Given the description of an element on the screen output the (x, y) to click on. 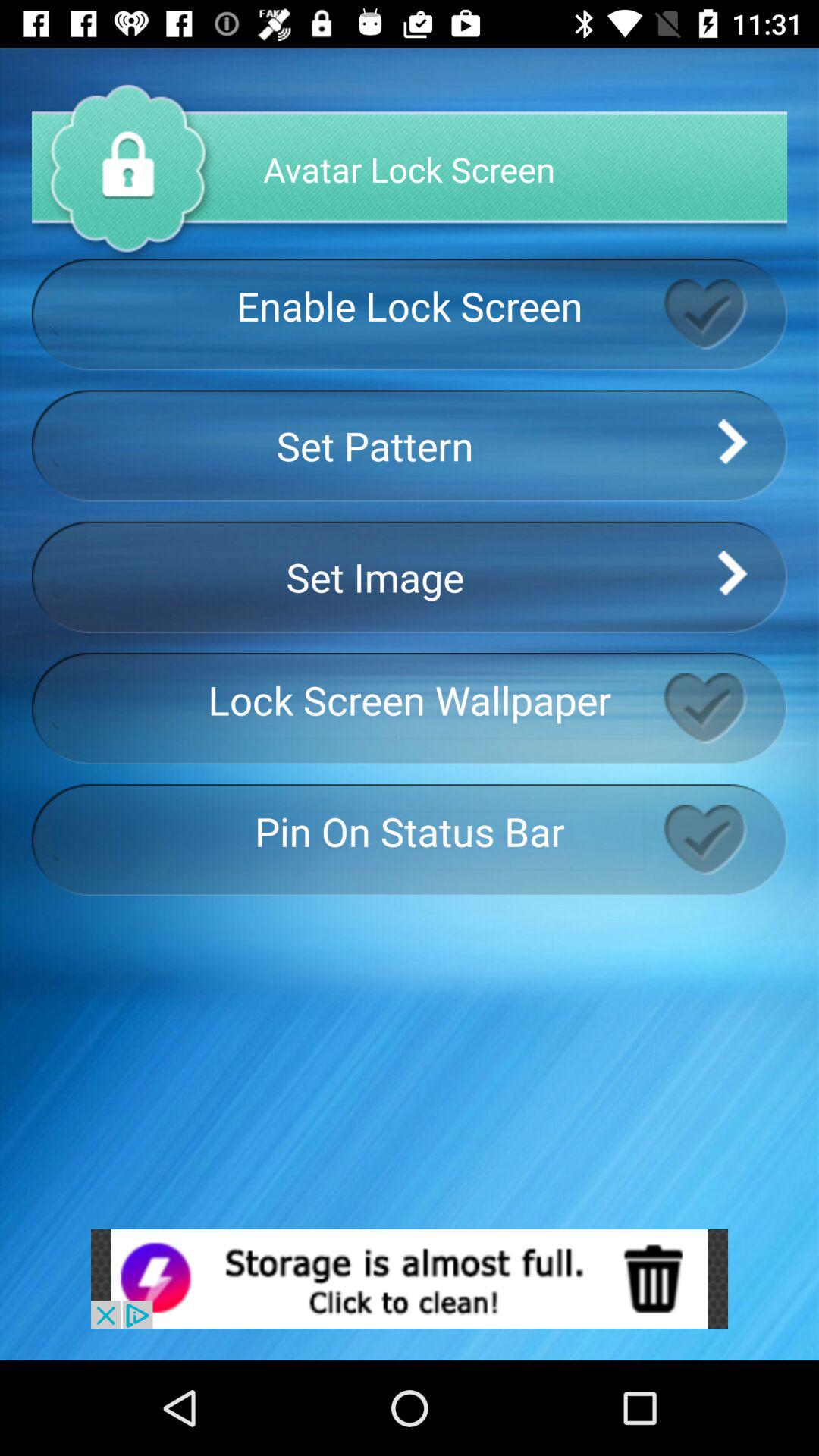
click the tick box (725, 708)
